Given the description of an element on the screen output the (x, y) to click on. 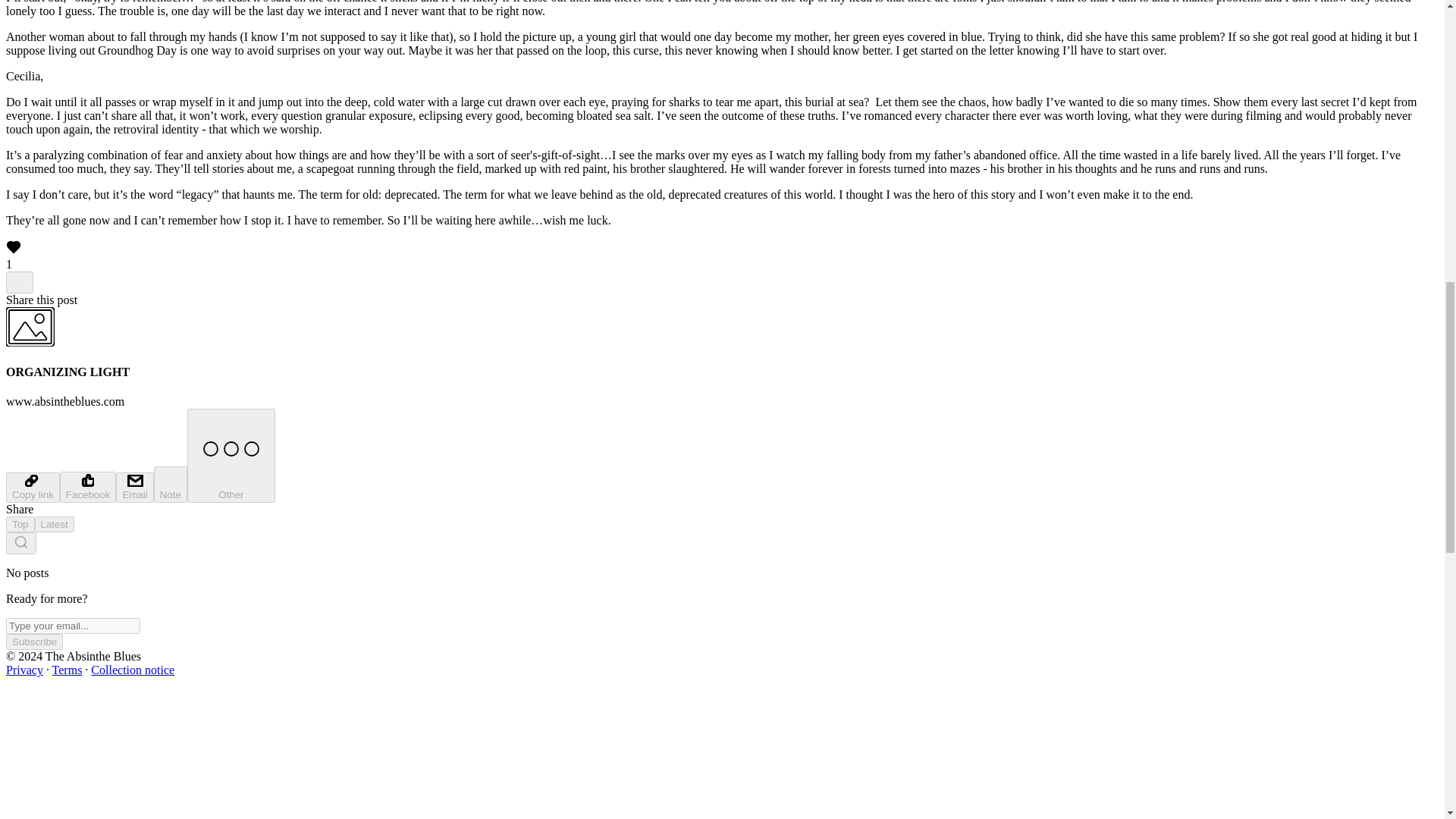
Copy link (32, 487)
Top (19, 524)
Facebook (87, 486)
Terms (67, 669)
Privacy (24, 669)
Email (134, 487)
Latest (54, 524)
Other (231, 455)
Note (170, 484)
Collection notice (132, 669)
Subscribe (33, 641)
